Given the description of an element on the screen output the (x, y) to click on. 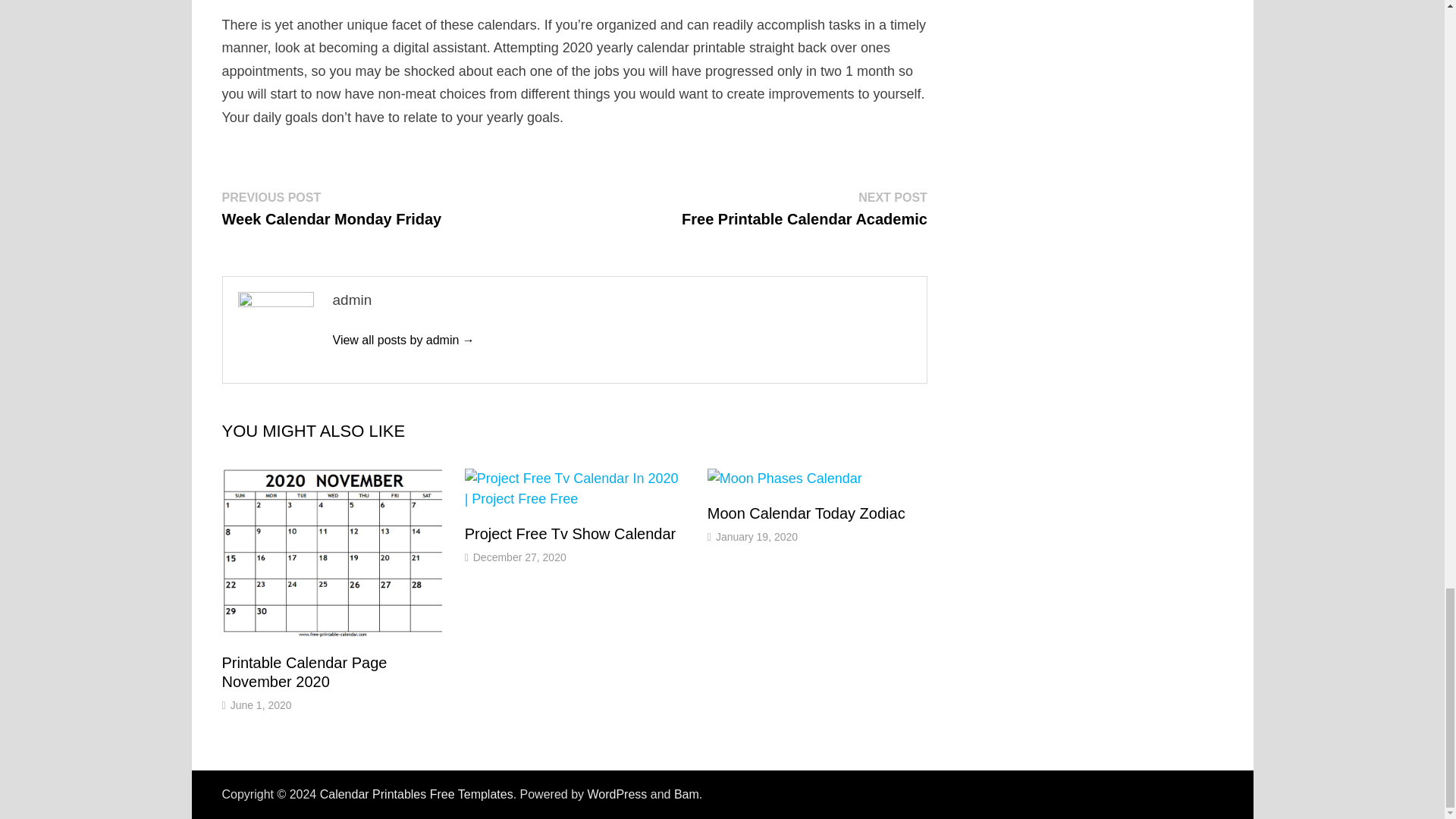
Calendar Printables Free Templates (416, 793)
admin (402, 339)
Project Free Tv Show Calendar (570, 533)
Moon Calendar Today Zodiac (806, 513)
WordPress (804, 208)
June 1, 2020 (616, 793)
Moon Calendar Today Zodiac (261, 705)
January 19, 2020 (806, 513)
Project Free Tv Show Calendar (756, 536)
